Given the description of an element on the screen output the (x, y) to click on. 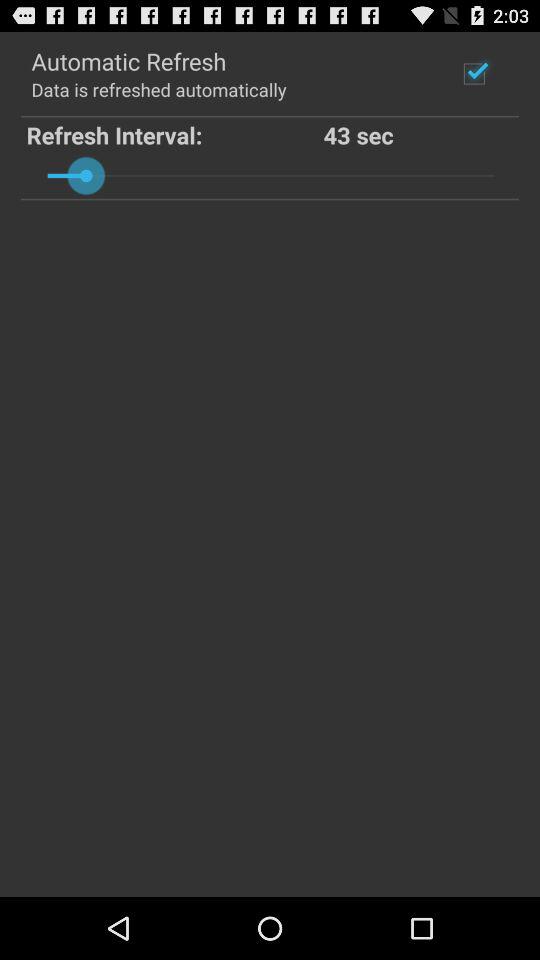
click icon above the data is refreshed (128, 60)
